Given the description of an element on the screen output the (x, y) to click on. 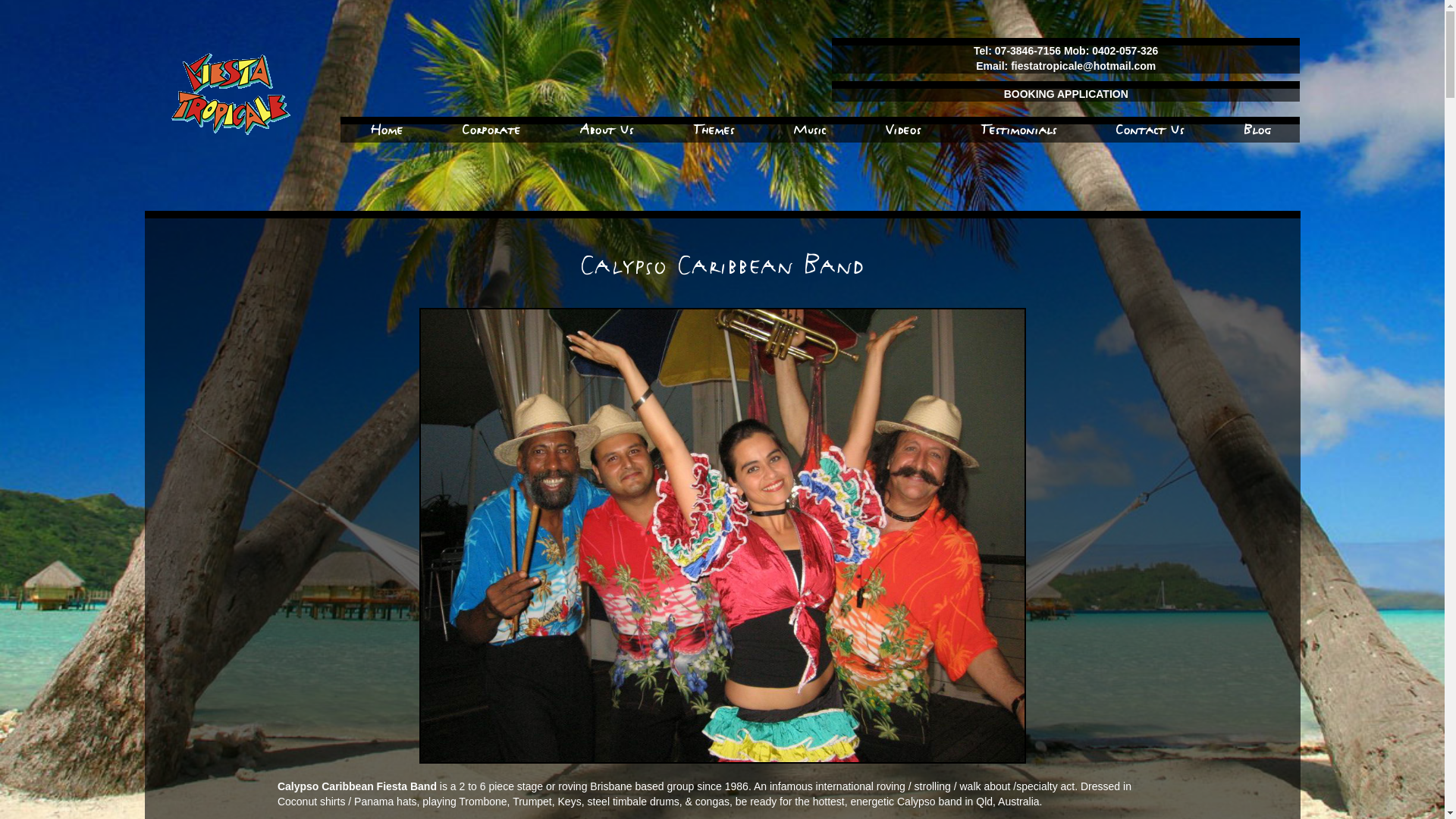
About Us Element type: text (606, 129)
Testimonials Element type: text (1018, 129)
fiestatropicale@hotmail.com Element type: text (1082, 65)
07-3846-7156 Element type: text (1028, 50)
0402-057-326 Element type: text (1124, 50)
Blog Element type: text (1256, 129)
Contact Us Element type: text (1149, 129)
Themes Element type: text (713, 129)
Corporate Element type: text (490, 129)
Music Element type: text (809, 129)
Home Element type: text (386, 129)
Videos Element type: text (902, 129)
BOOKING APPLICATION Element type: text (1066, 93)
